Given the description of an element on the screen output the (x, y) to click on. 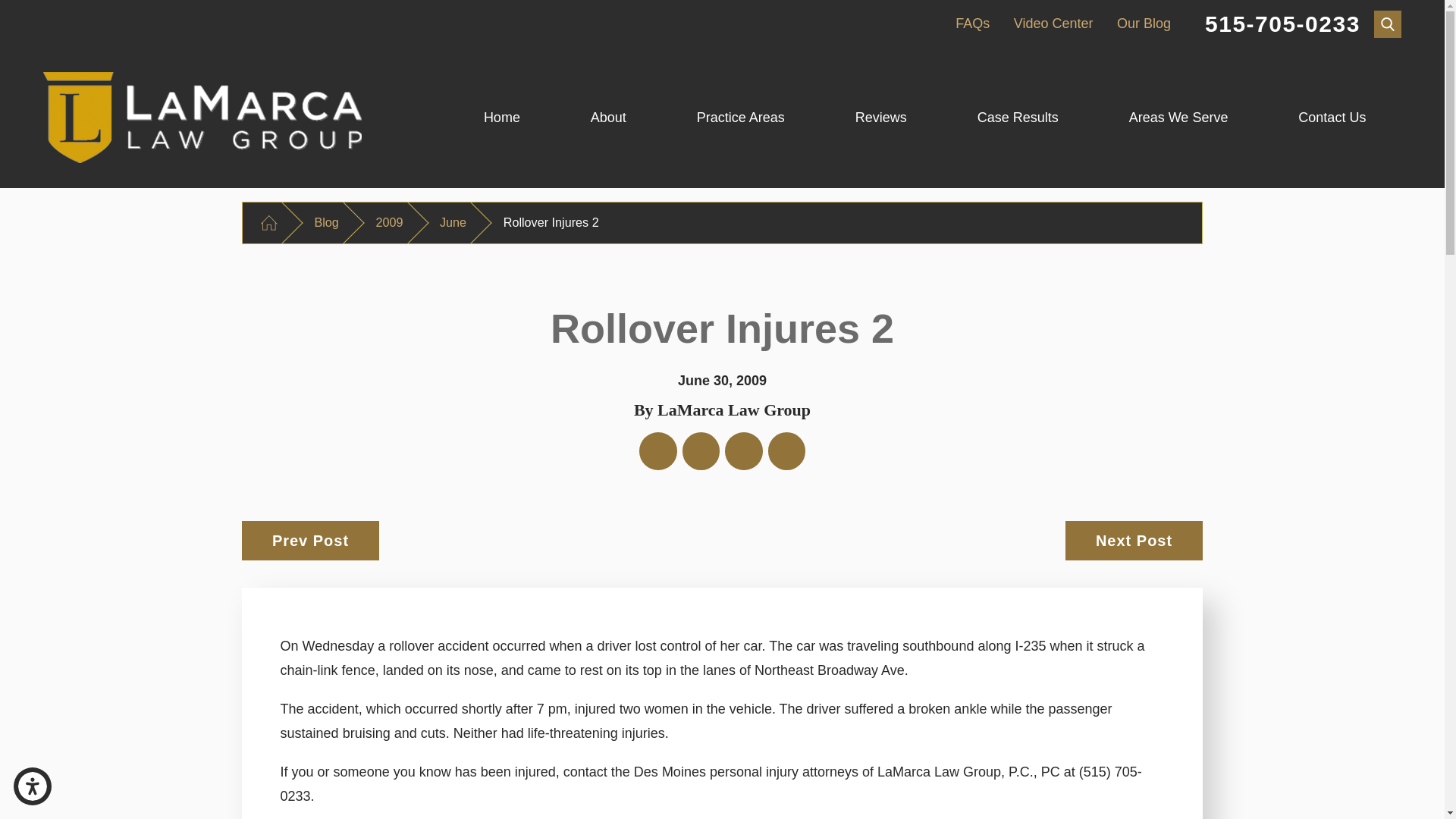
FAQs (972, 23)
Search Our Site (1387, 23)
Our Blog (1143, 23)
Search Icon (1387, 23)
Video Center (1053, 23)
Open the accessibility options menu (31, 786)
LaMarca Law Group, P.C. (202, 117)
Go Home (269, 222)
515-705-0233 (1282, 23)
Practice Areas (740, 117)
